Given the description of an element on the screen output the (x, y) to click on. 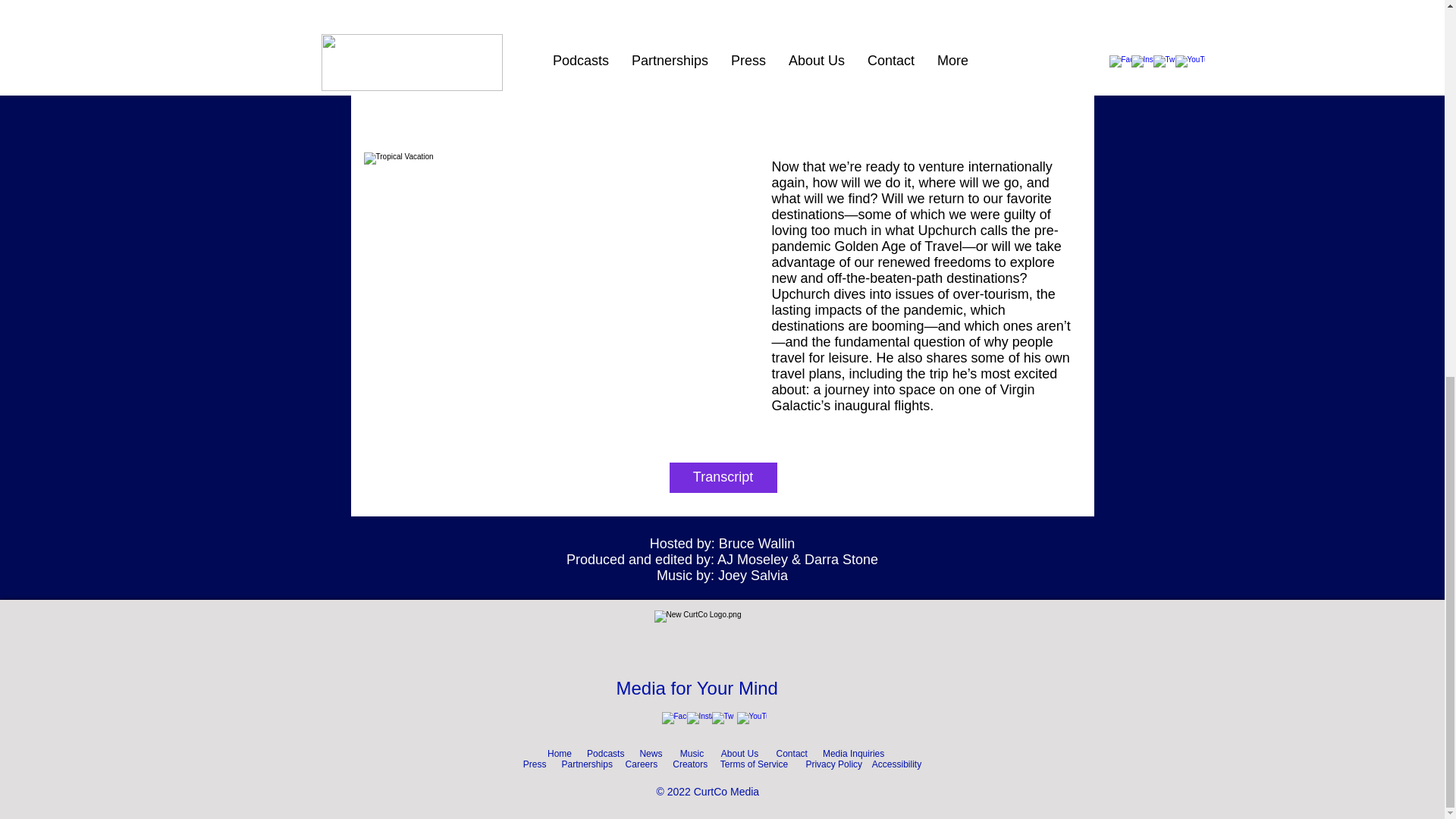
Contact    (795, 753)
News (650, 753)
Home (559, 753)
Transcript (722, 477)
Podcasts (605, 753)
Media Inquiries (852, 753)
Music (691, 753)
About Us (739, 753)
